Given the description of an element on the screen output the (x, y) to click on. 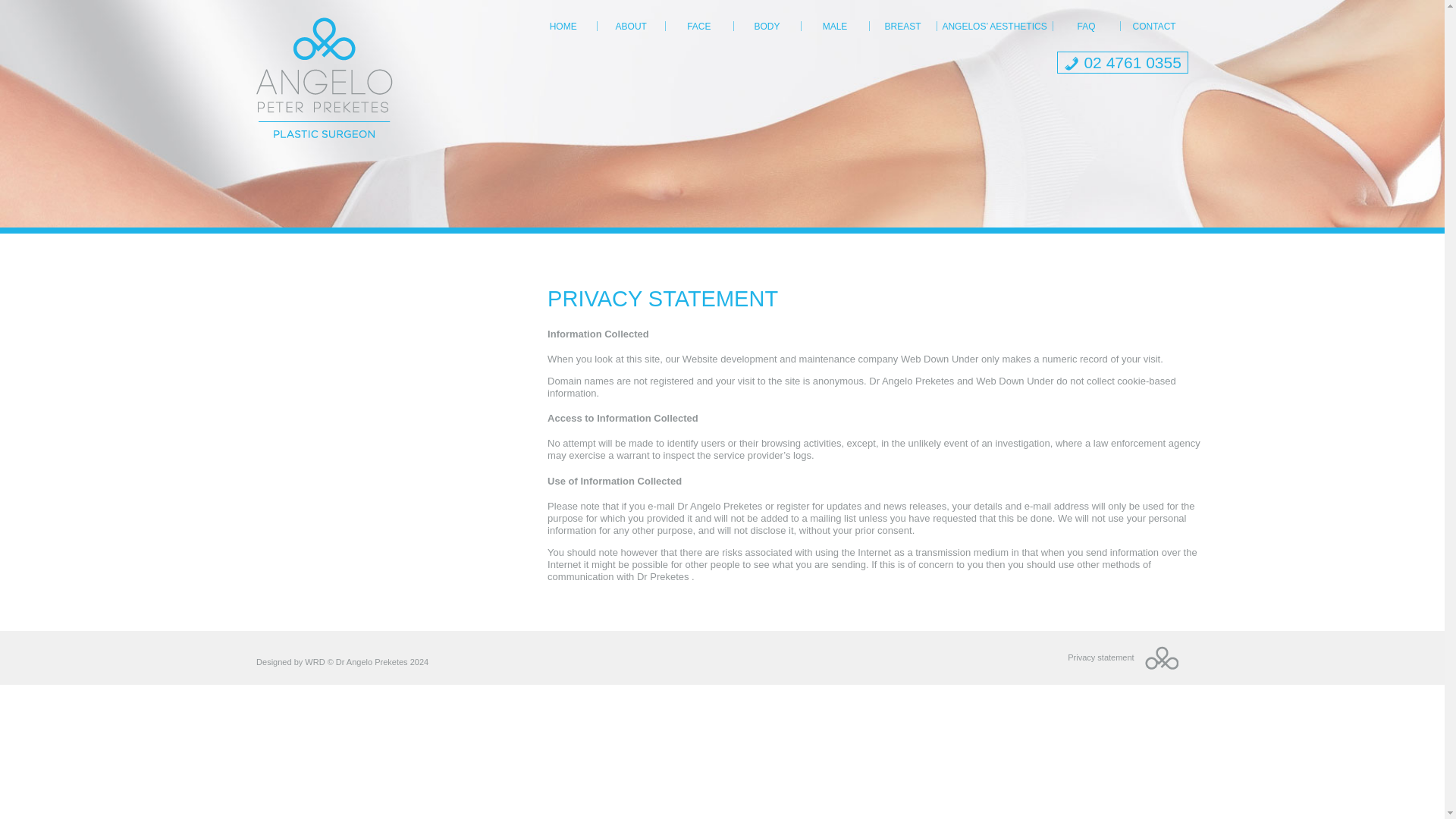
FACE (699, 26)
FAQ (1085, 26)
BREAST (903, 26)
BODY (766, 26)
CONTACT (1153, 26)
MALE (834, 26)
